Given the description of an element on the screen output the (x, y) to click on. 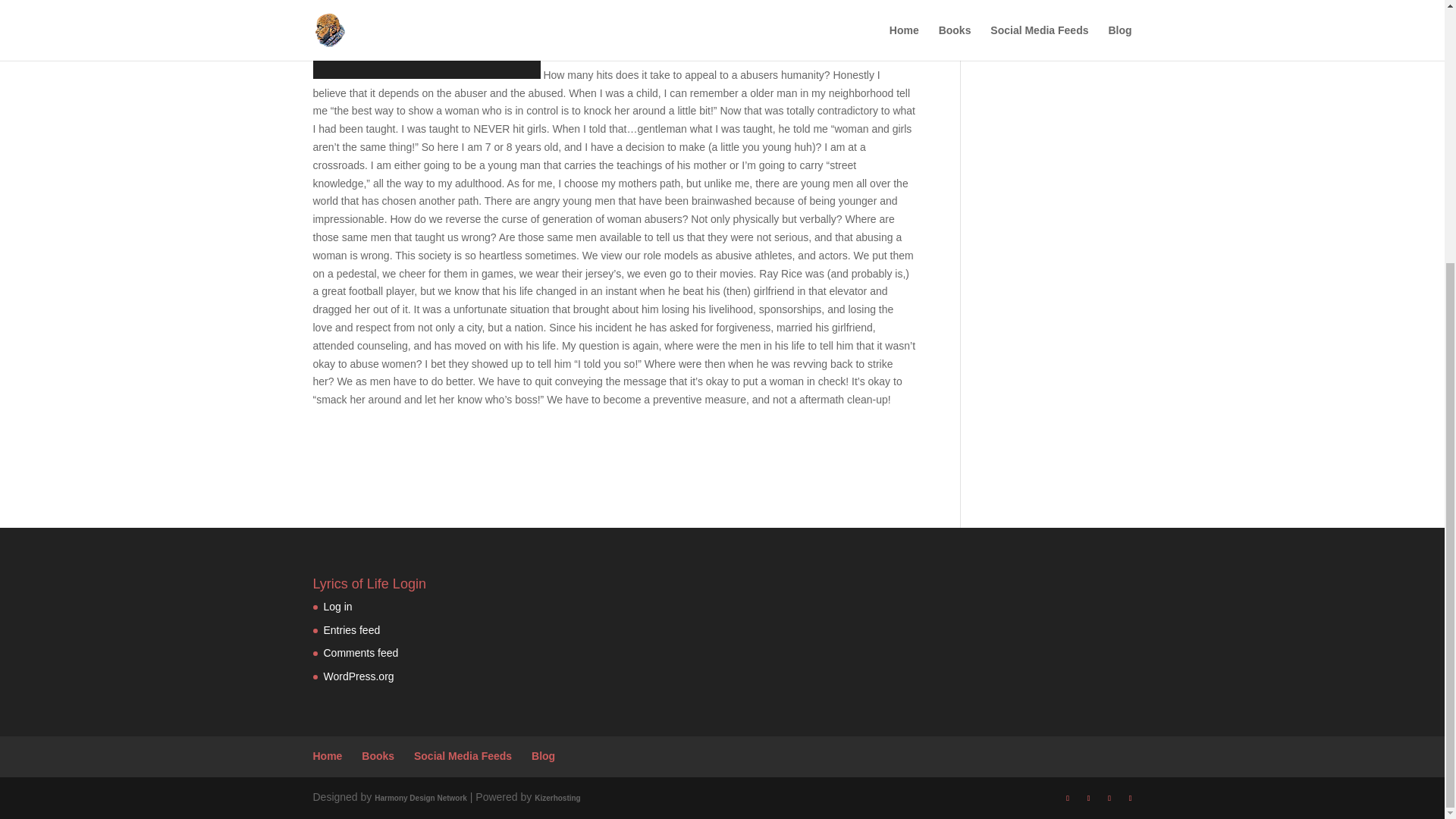
Log in (337, 606)
Blog (542, 756)
Comments feed (360, 653)
Kizerhosting (557, 797)
Social Media Feeds (462, 756)
Home (327, 756)
WordPress.org (358, 676)
Harmony Design Network (420, 797)
Harmony Design Network (420, 797)
Entries feed (351, 630)
Books (377, 756)
